Given the description of an element on the screen output the (x, y) to click on. 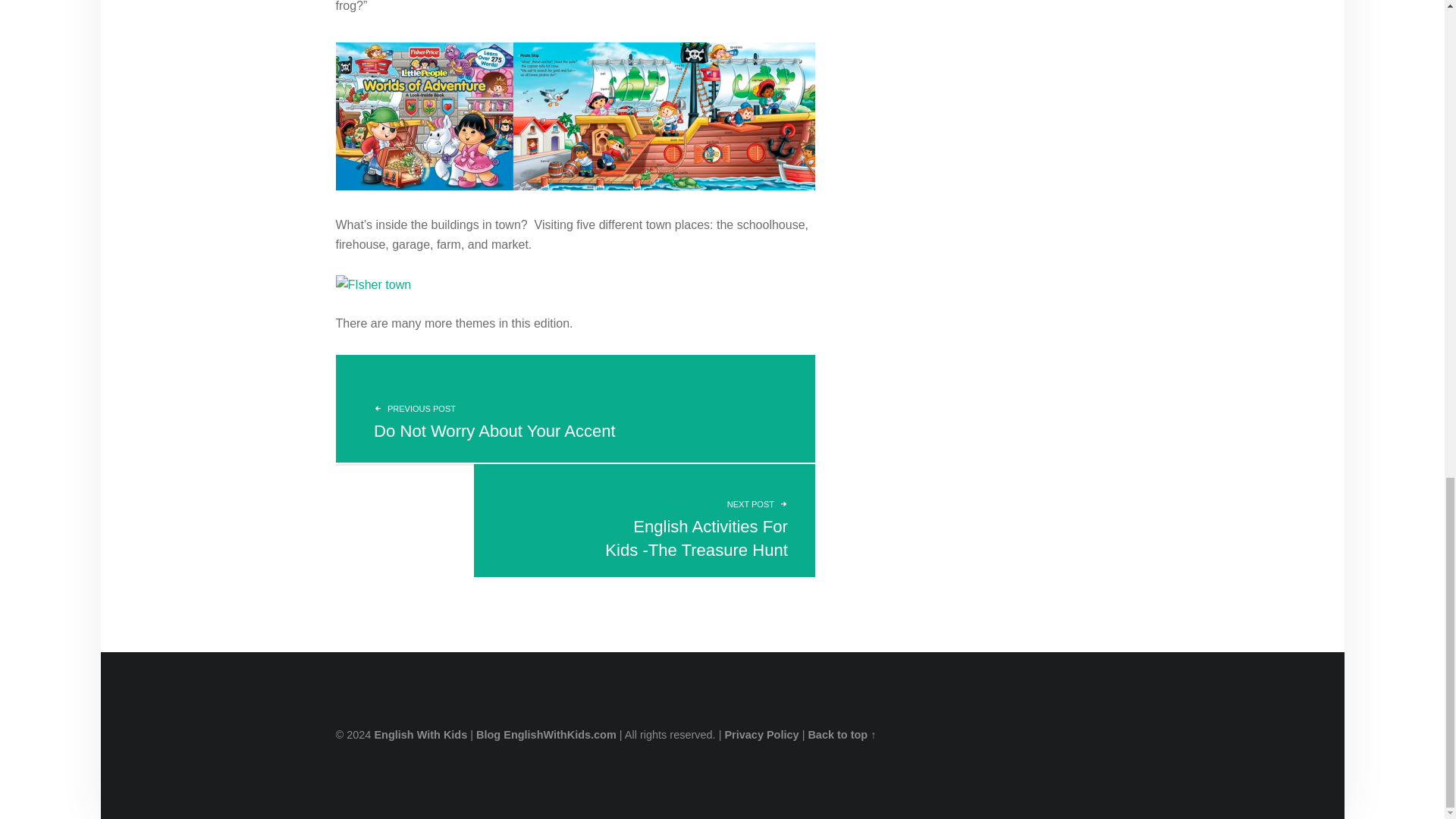
Privacy Policy (760, 734)
Blog EnglishWithKids.com (573, 408)
English With Kids (545, 734)
